Given the description of an element on the screen output the (x, y) to click on. 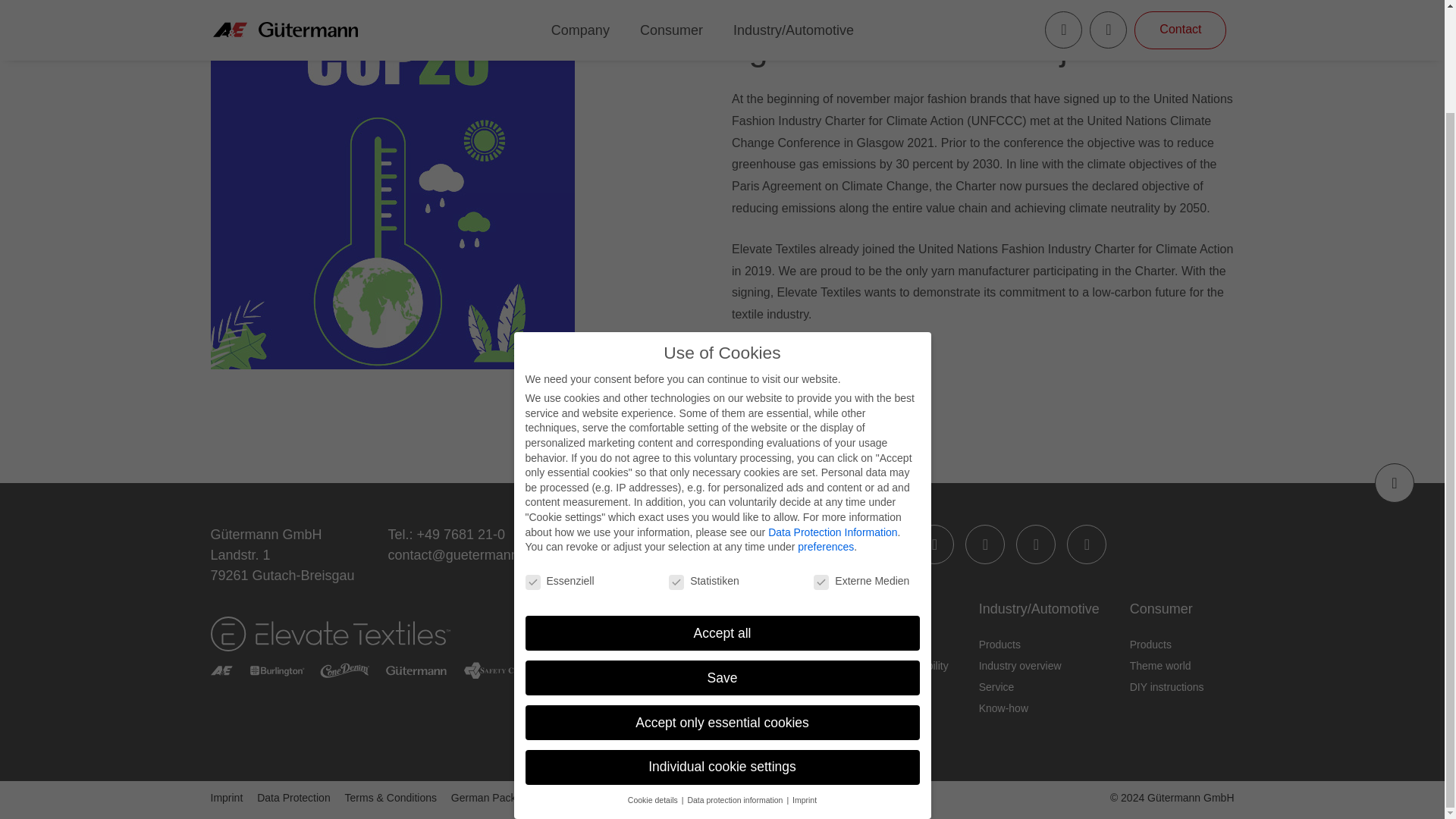
YouTube (1035, 544)
Company (841, 608)
Pinterest (1086, 544)
Instagram (984, 544)
Facebook (933, 544)
Xing (882, 544)
Scroll up (1393, 482)
LinkedIn (831, 544)
Quality (828, 644)
News (826, 707)
Open Cookie Preferences (1411, 671)
